Given the description of an element on the screen output the (x, y) to click on. 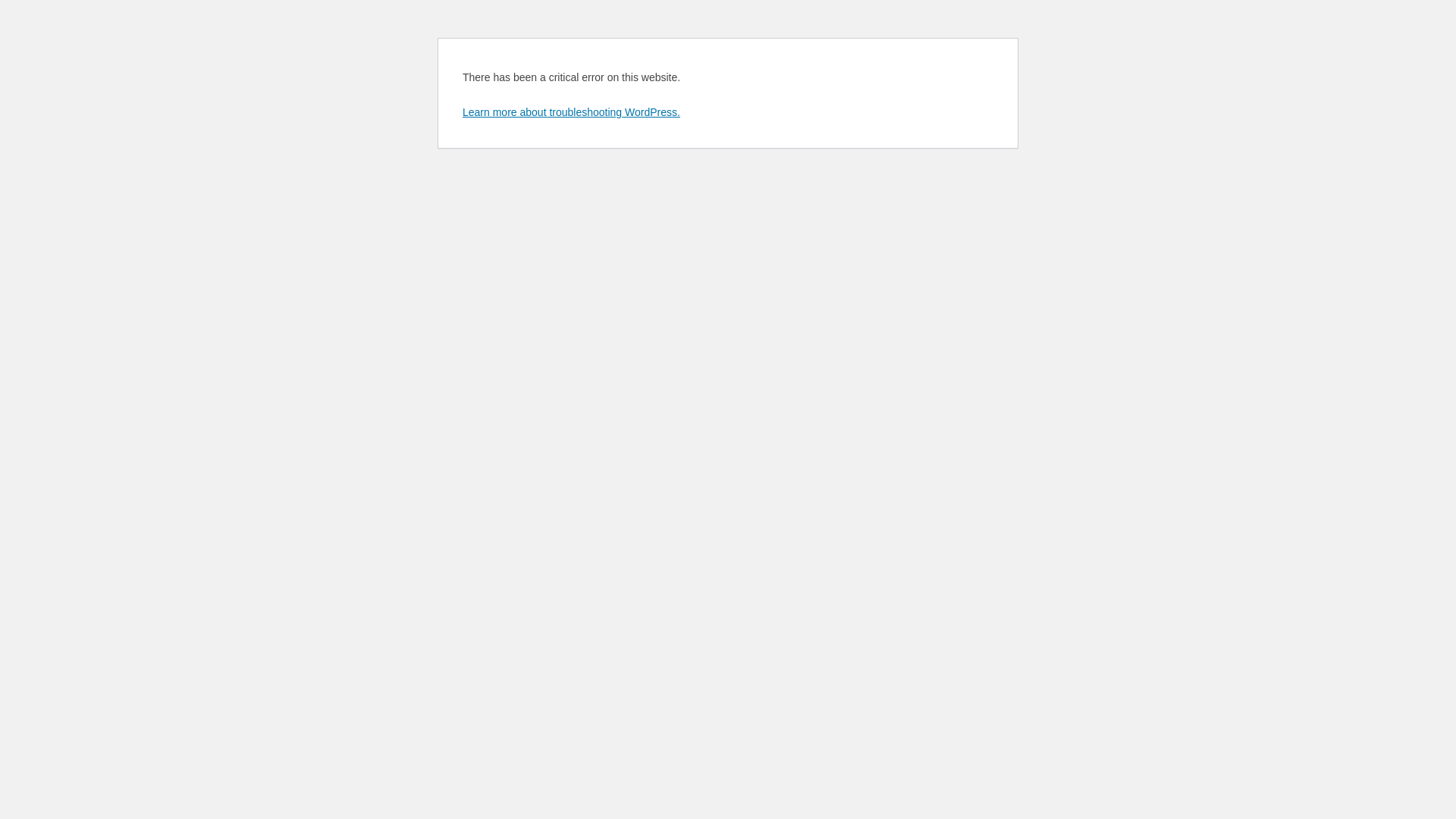
Learn more about troubleshooting WordPress. Element type: text (571, 112)
